Given the description of an element on the screen output the (x, y) to click on. 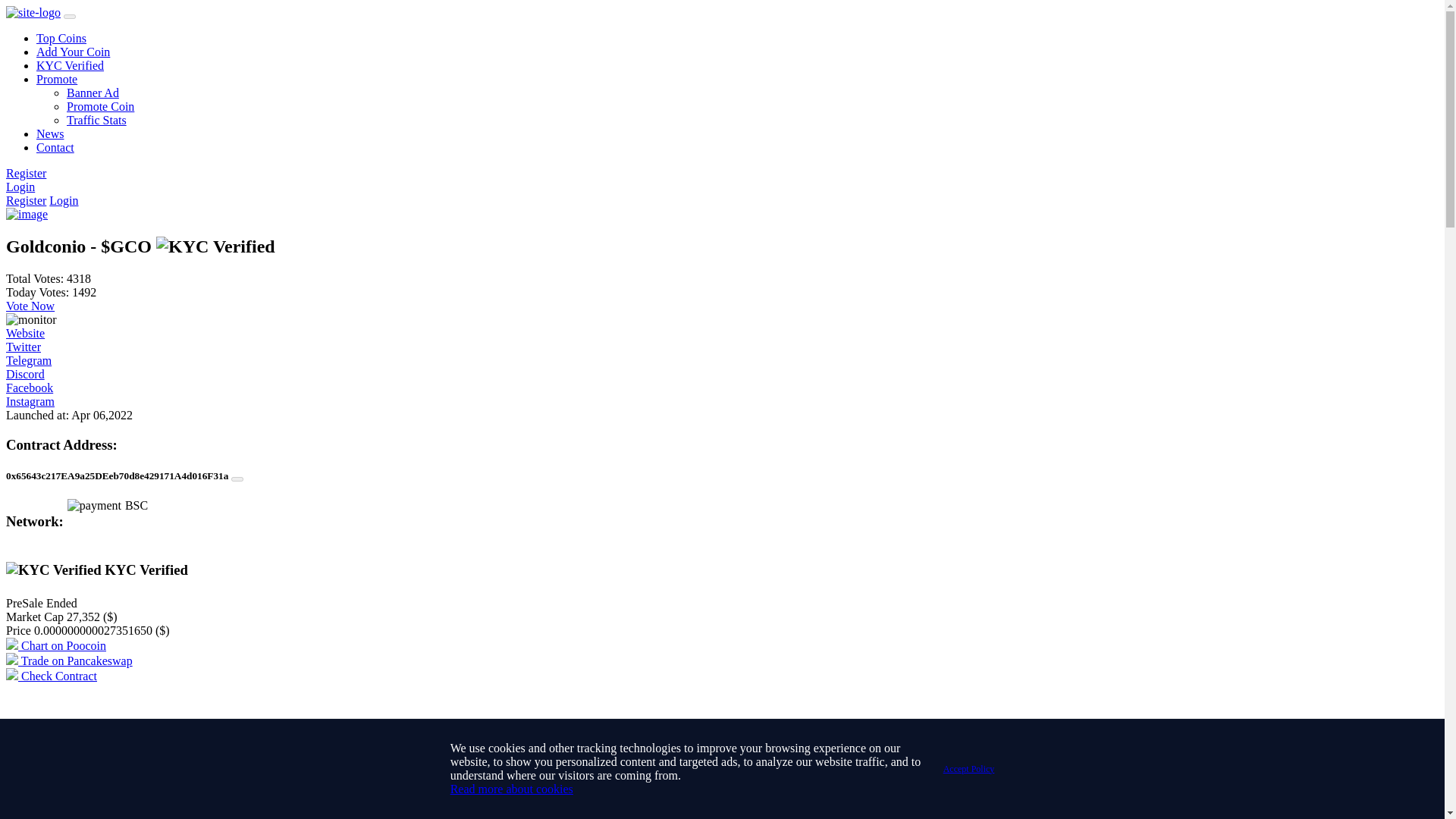
Top Coins (60, 38)
Promote (56, 78)
Chart on Poocoin (55, 645)
Banner Ad (92, 92)
News (50, 133)
KYC Verified (53, 569)
Register (25, 173)
Check Contract (51, 675)
Register (25, 200)
Login (63, 200)
